Given the description of an element on the screen output the (x, y) to click on. 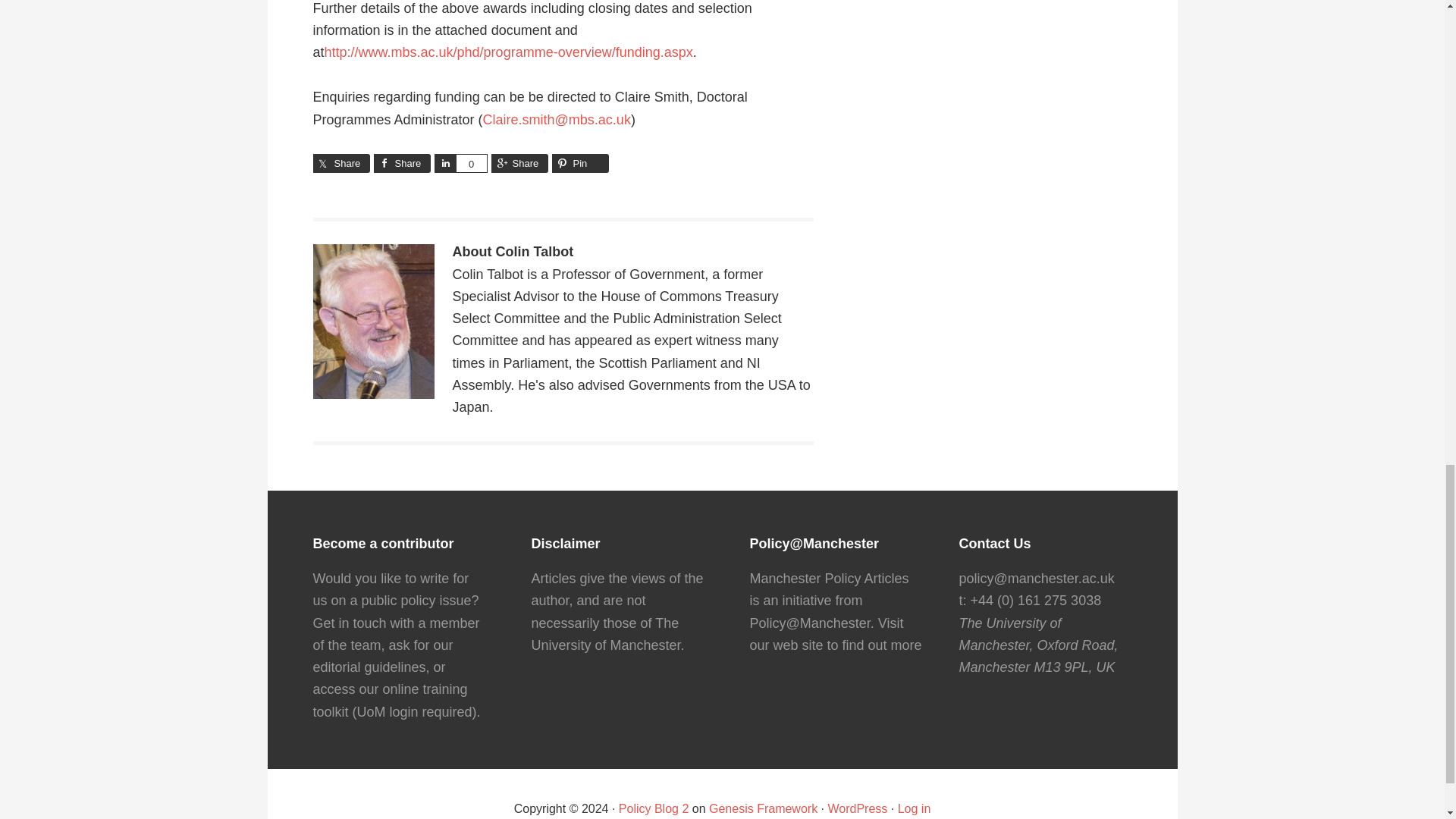
Share (341, 162)
Share (400, 162)
Get in touch (349, 622)
Visit our web site to find out more (835, 633)
0 (470, 162)
Genesis Framework (762, 808)
Share (443, 162)
Pin (579, 162)
Share (520, 162)
Log in (914, 808)
WordPress (858, 808)
Policy Blog 2 (653, 808)
online training toolkit (390, 700)
